Given the description of an element on the screen output the (x, y) to click on. 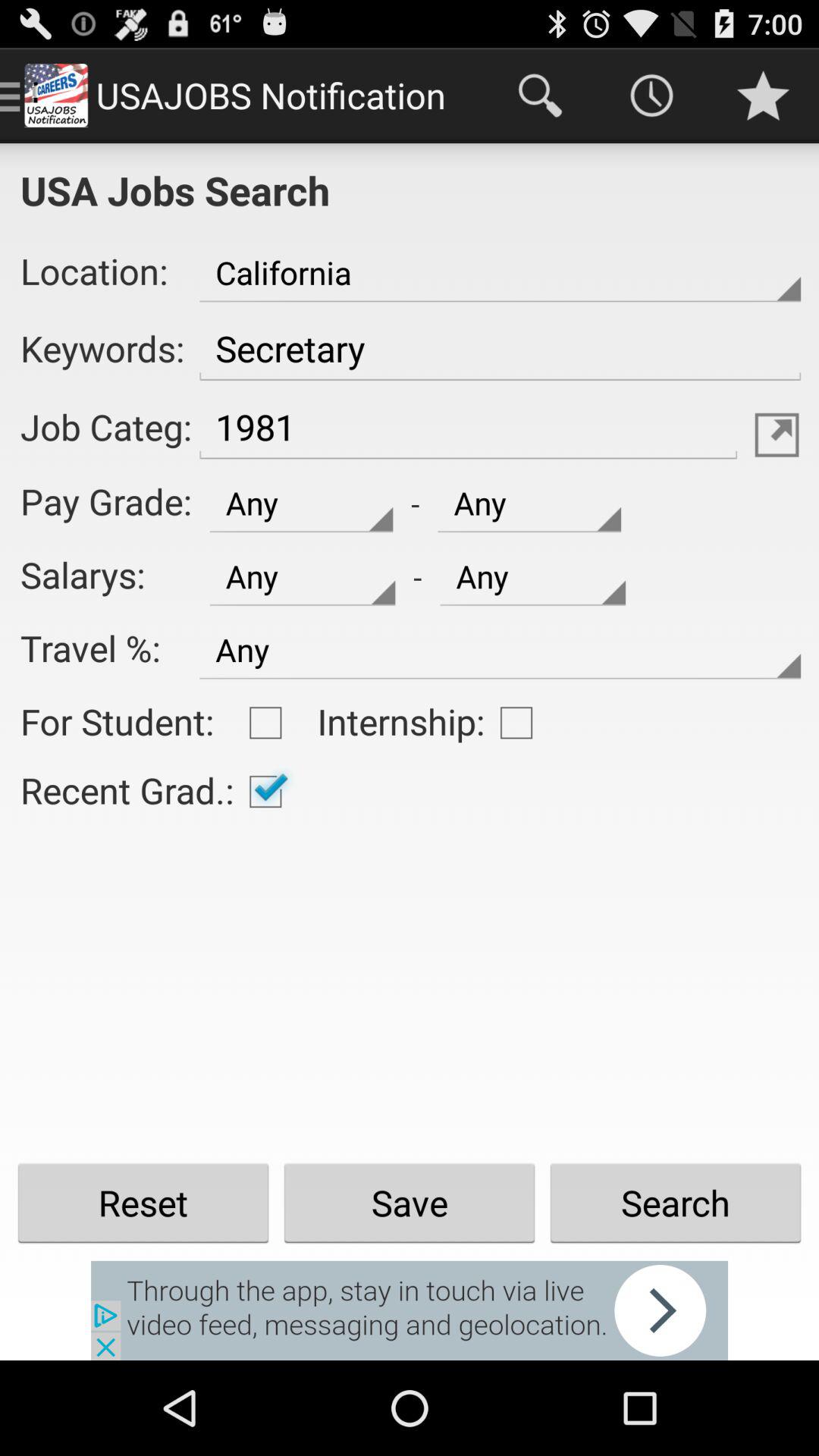
show the list of job categories (776, 434)
